Given the description of an element on the screen output the (x, y) to click on. 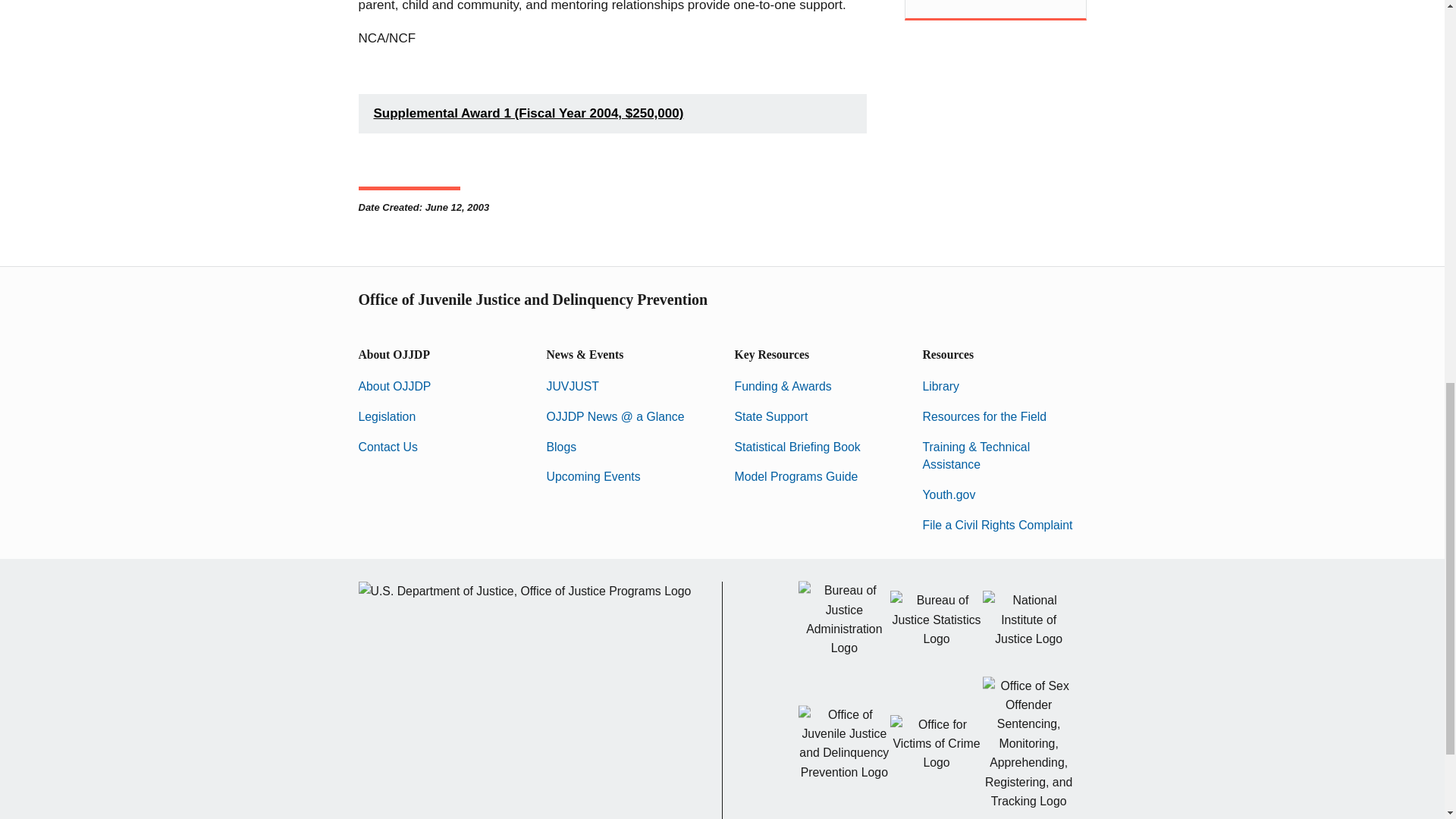
Tennessee ICAC Task Force Program (995, 1)
Tennessee ICAC Task Force Program (995, 1)
